Given the description of an element on the screen output the (x, y) to click on. 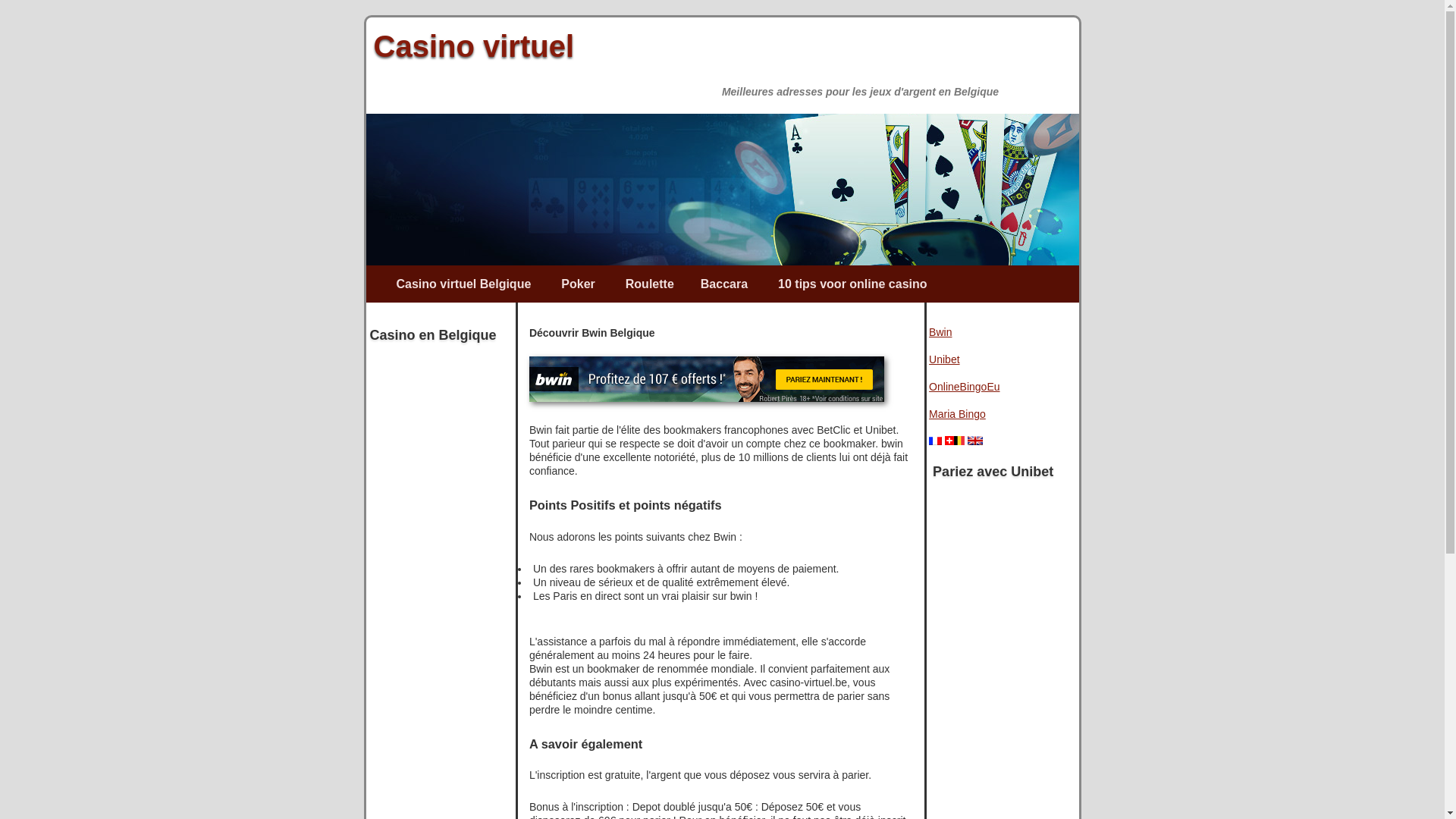
Casino virtuel Belgique Element type: text (463, 284)
Bwin Element type: text (939, 332)
Casino virtuel Element type: text (473, 45)
10 tips voor online casino Element type: text (852, 284)
Roulette Element type: text (649, 284)
Baccara Element type: text (724, 284)
Unibet Element type: text (943, 359)
Poker Element type: text (577, 284)
OnlineBingoEu Element type: text (963, 386)
Maria Bingo Element type: text (956, 413)
